Given the description of an element on the screen output the (x, y) to click on. 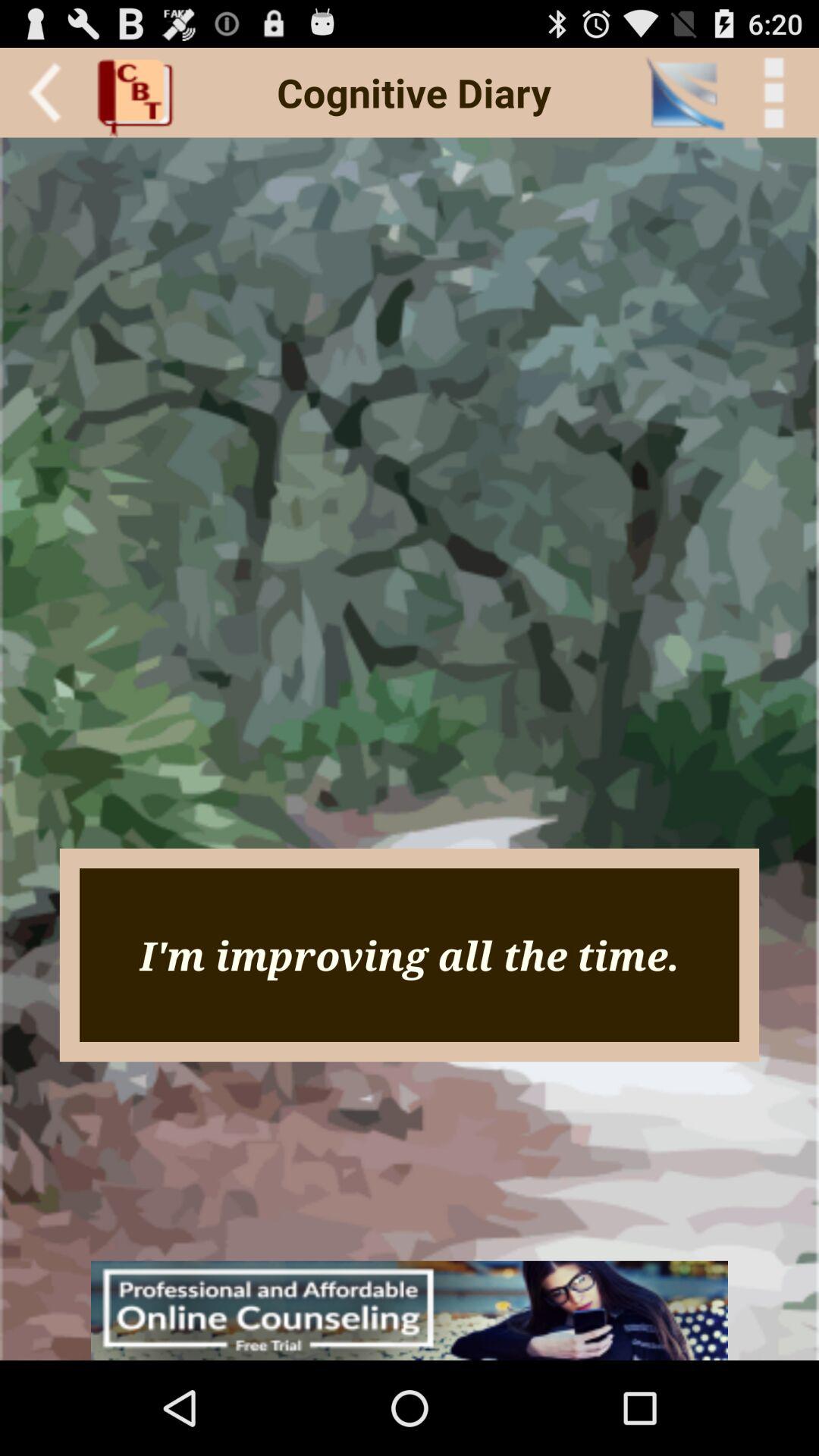
link to professional and affordable online counseling (409, 1310)
